Given the description of an element on the screen output the (x, y) to click on. 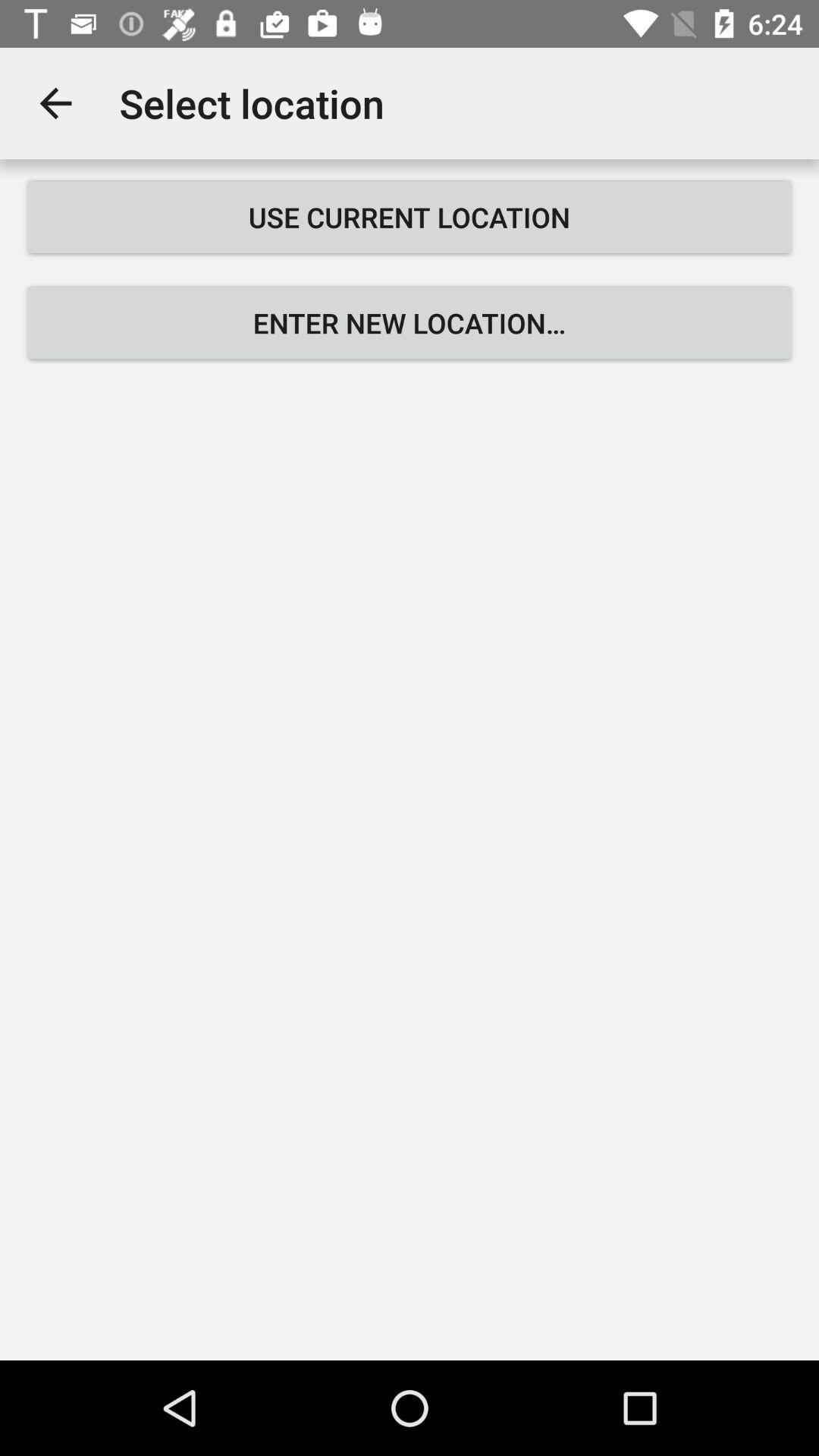
turn on the icon to the left of select location icon (55, 103)
